Given the description of an element on the screen output the (x, y) to click on. 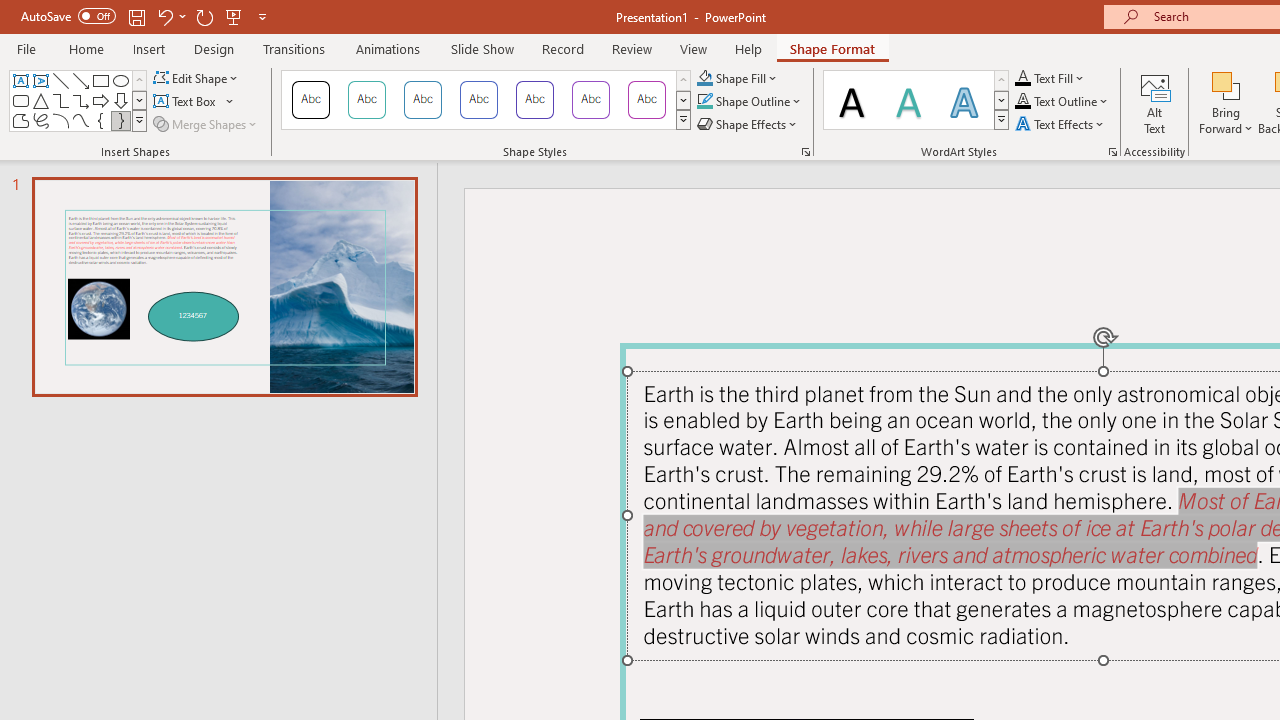
Arrow: Right (100, 100)
Connector: Elbow Arrow (80, 100)
Text Box (20, 80)
Arc (60, 120)
